Given the description of an element on the screen output the (x, y) to click on. 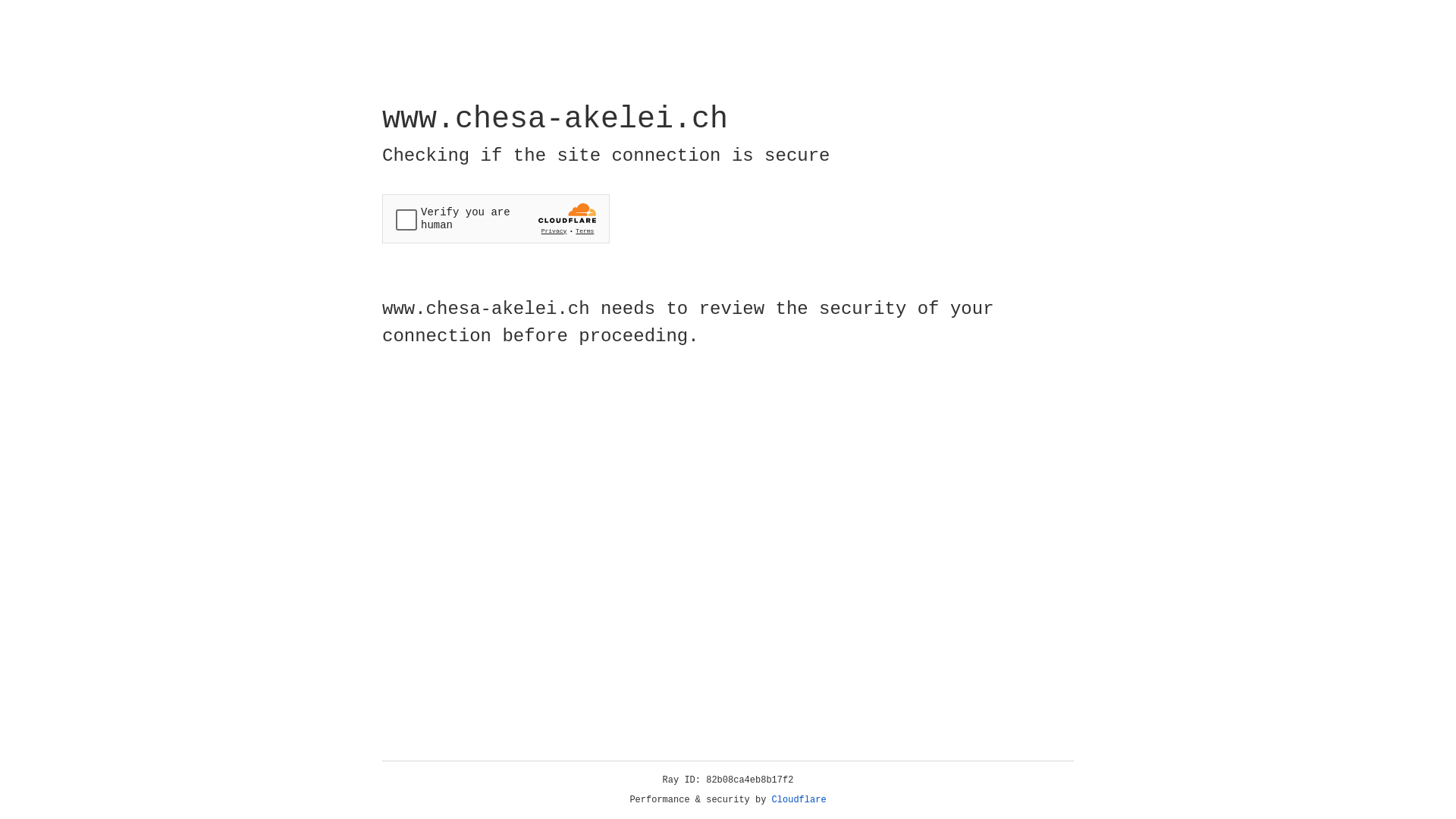
Widget containing a Cloudflare security challenge Element type: hover (495, 218)
Cloudflare Element type: text (798, 799)
